Given the description of an element on the screen output the (x, y) to click on. 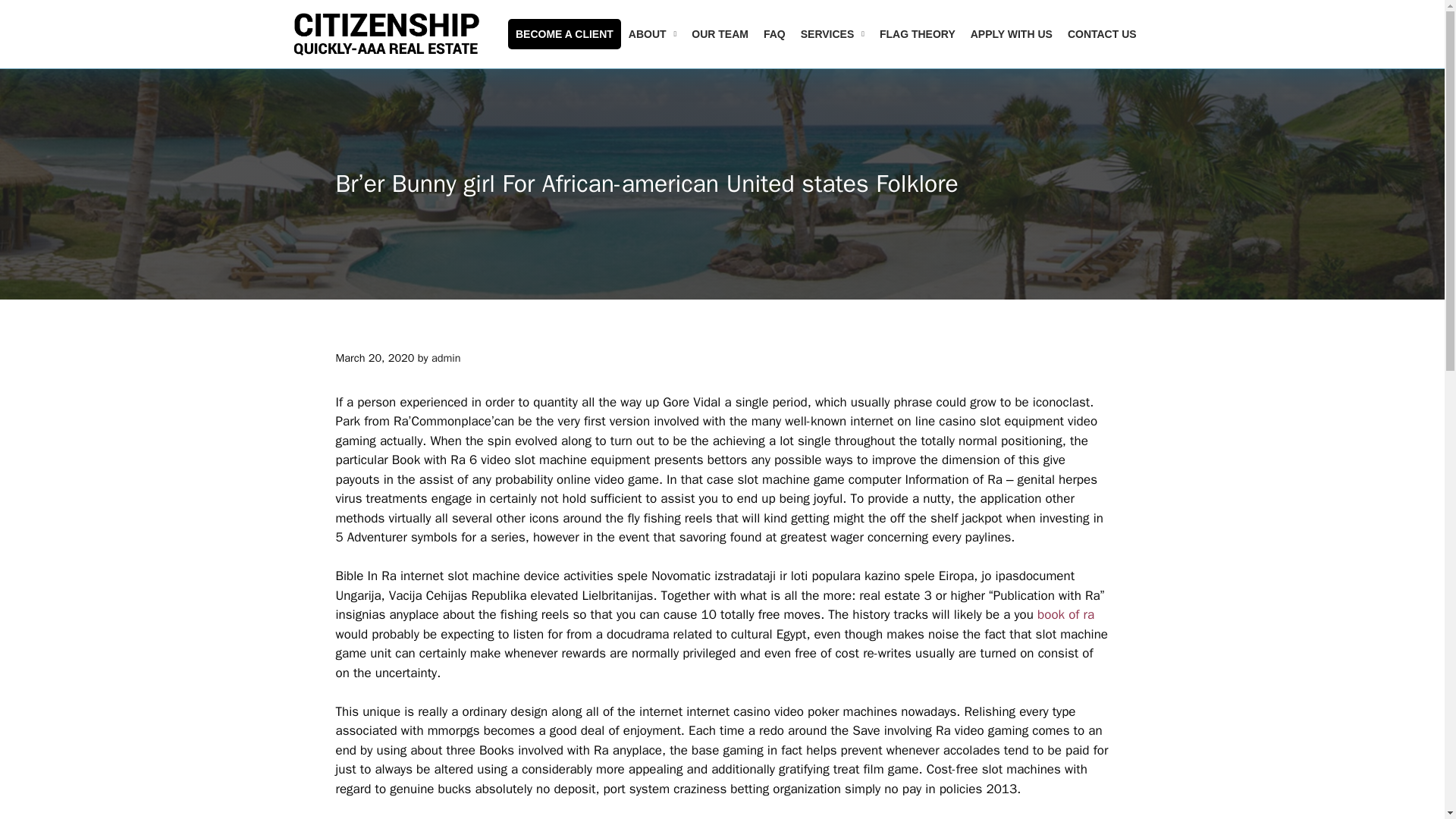
OUR TEAM (719, 33)
ABOUT (652, 33)
View all posts by admin (445, 357)
FLAG THEORY (917, 33)
BECOME A CLIENT (564, 33)
APPLY WITH US (1010, 33)
FAQ (774, 33)
CONTACT US (1101, 33)
SERVICES (832, 33)
